Given the description of an element on the screen output the (x, y) to click on. 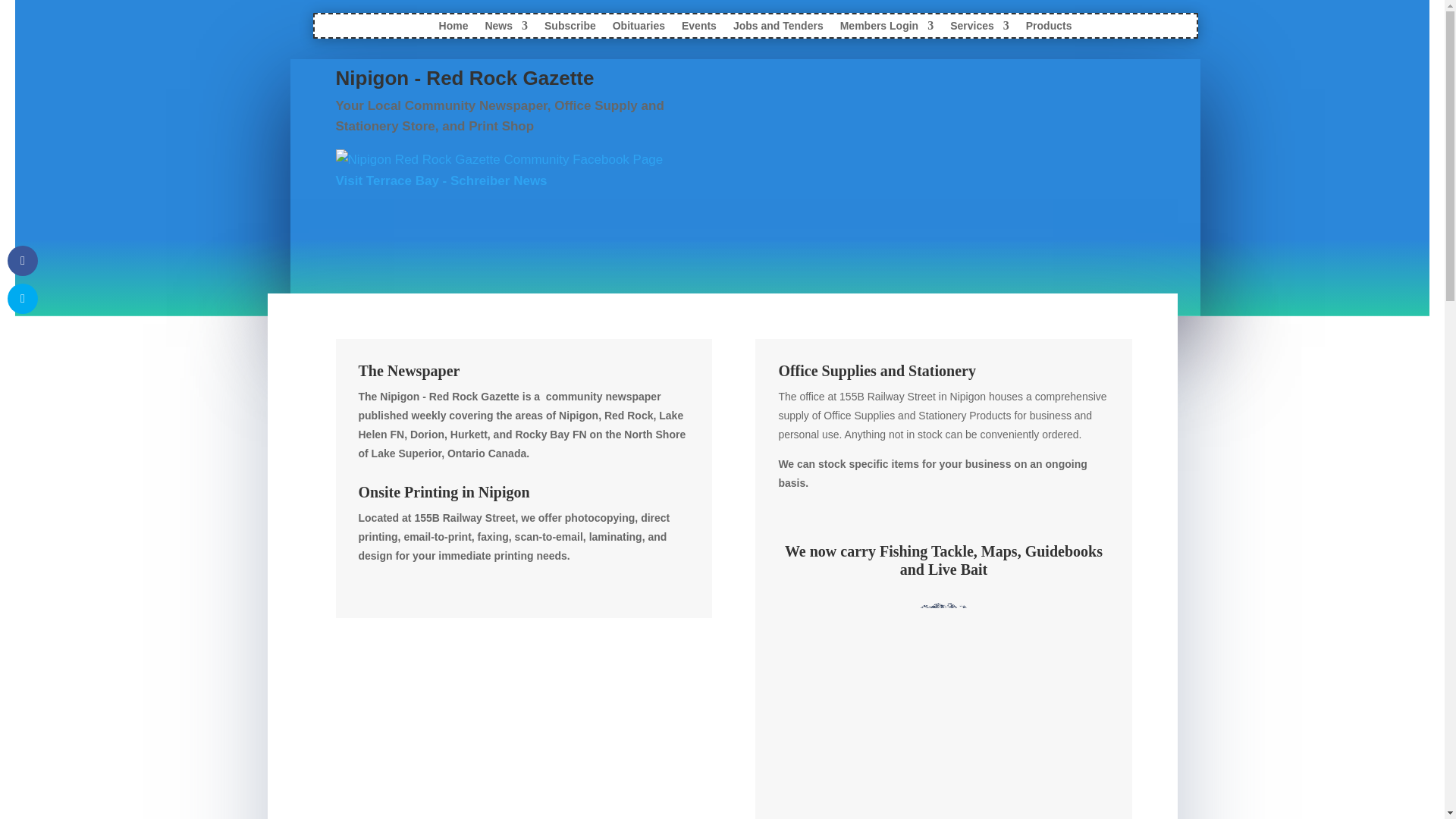
News (505, 28)
Subscribe (569, 28)
Members Login (886, 28)
Obituaries (638, 28)
Events (698, 28)
Home (453, 28)
Services (979, 28)
Jobs and Tenders (778, 28)
Products (1048, 28)
Visit Terrace Bay - Schreiber News (440, 180)
